Given the description of an element on the screen output the (x, y) to click on. 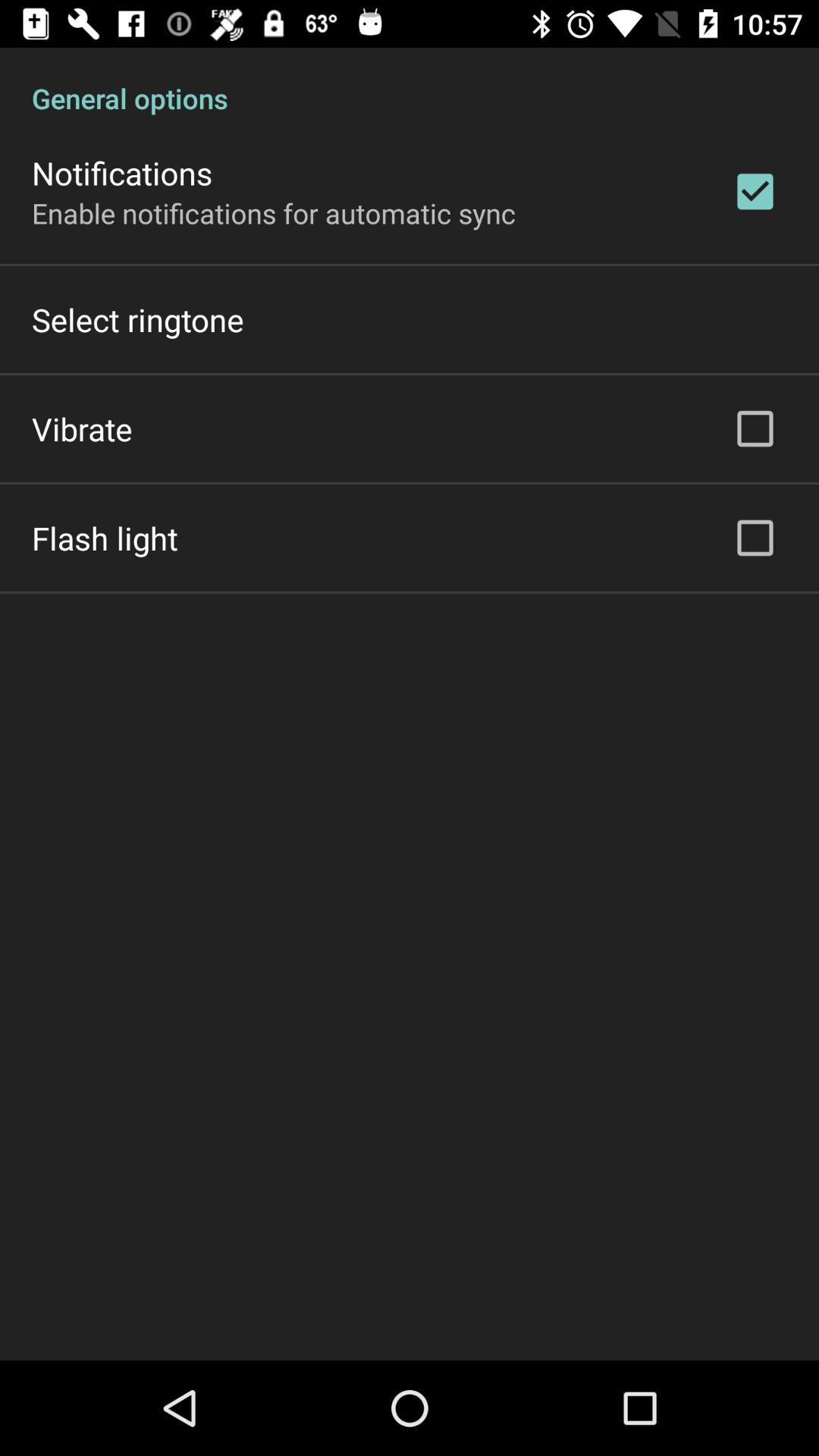
scroll to flash light item (104, 537)
